Given the description of an element on the screen output the (x, y) to click on. 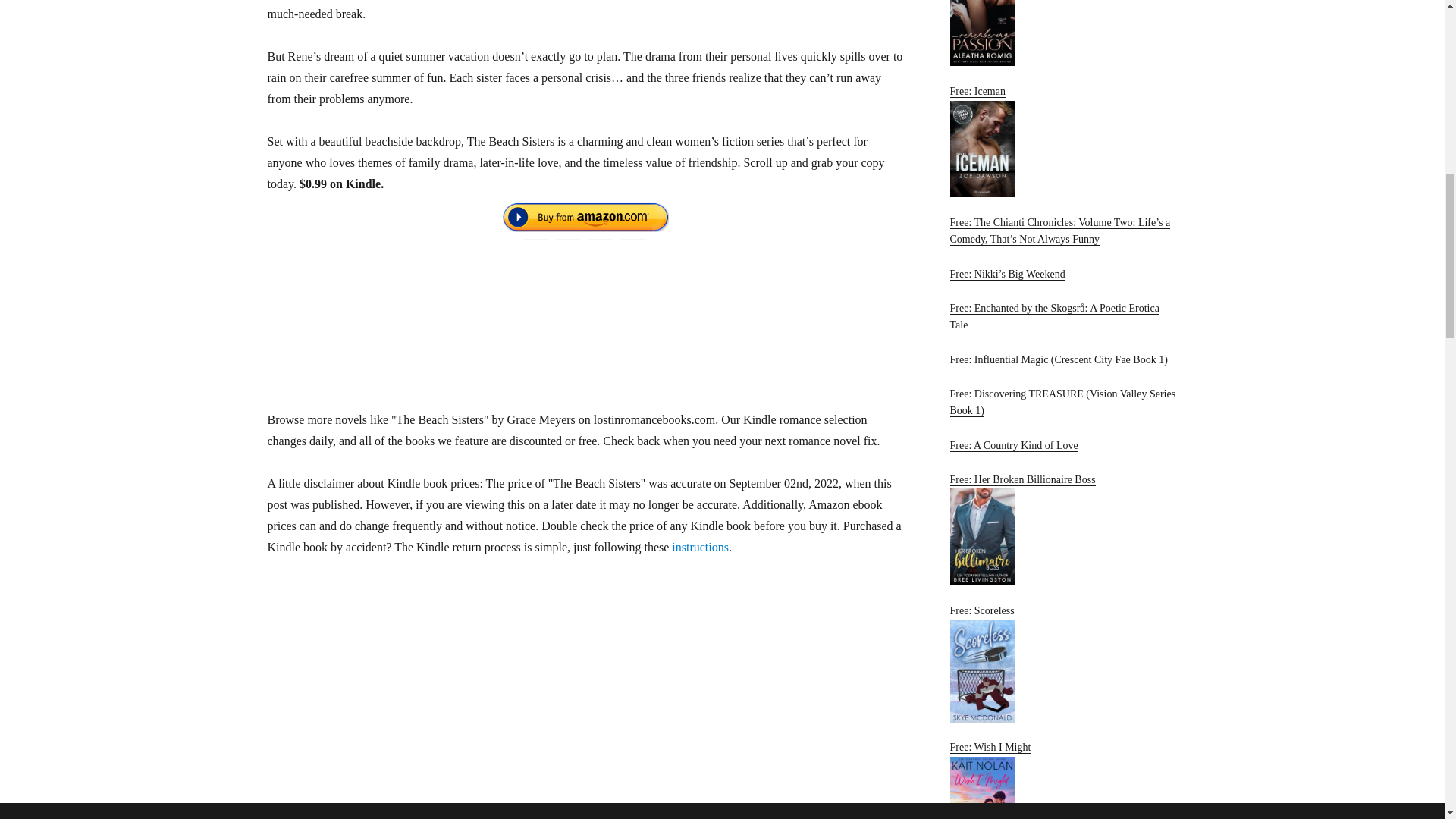
Free: A Country Kind of Love (1013, 445)
instructions (700, 546)
Free: Iceman (1062, 141)
Free: Her Broken Billionaire Boss (1062, 529)
Free: Remembering Passion: Sinclair Duet (1062, 33)
Free: Wish I Might (1062, 780)
Free: Scoreless (1062, 663)
